Given the description of an element on the screen output the (x, y) to click on. 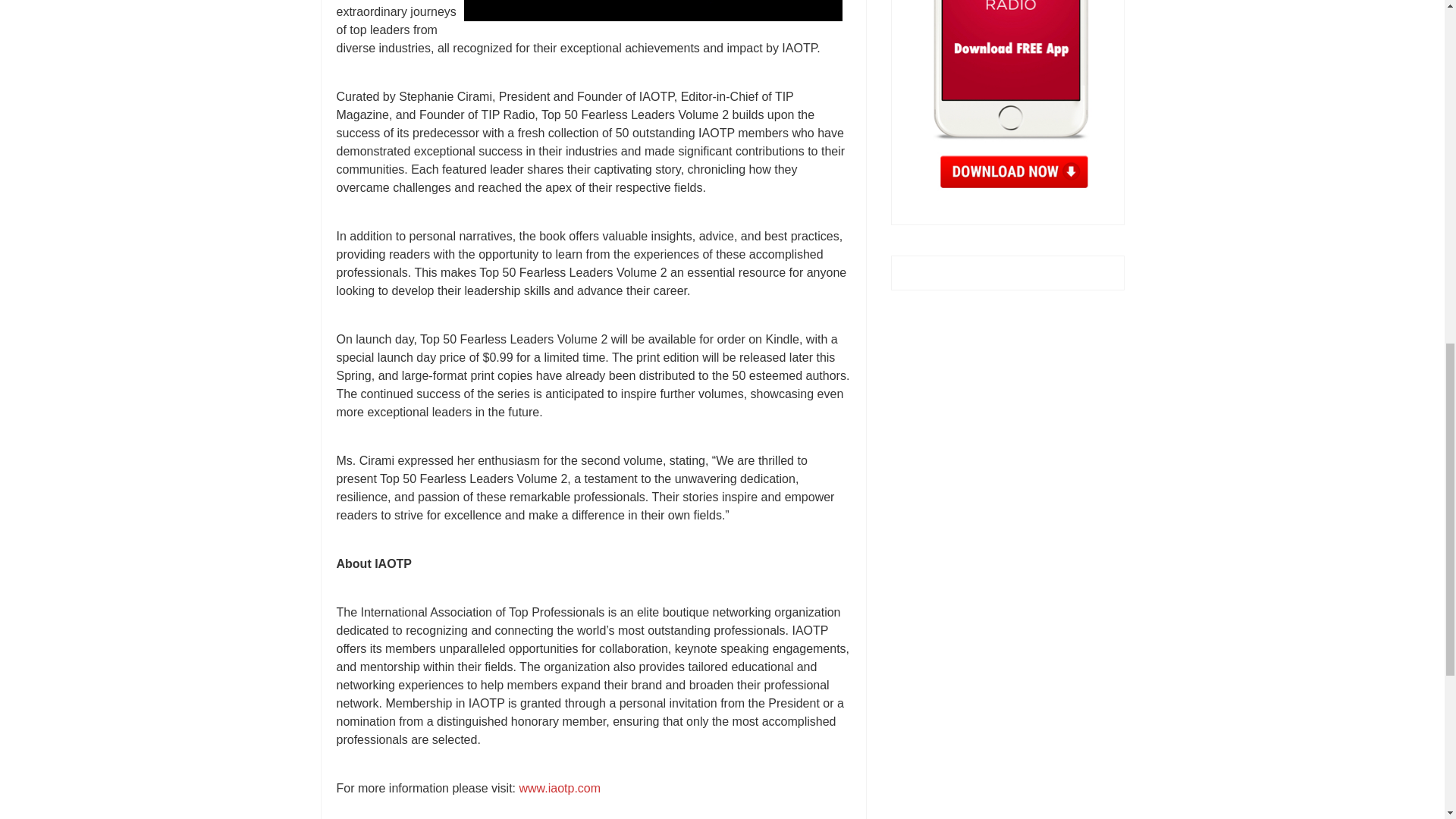
www.iaotp.com (558, 788)
